Given the description of an element on the screen output the (x, y) to click on. 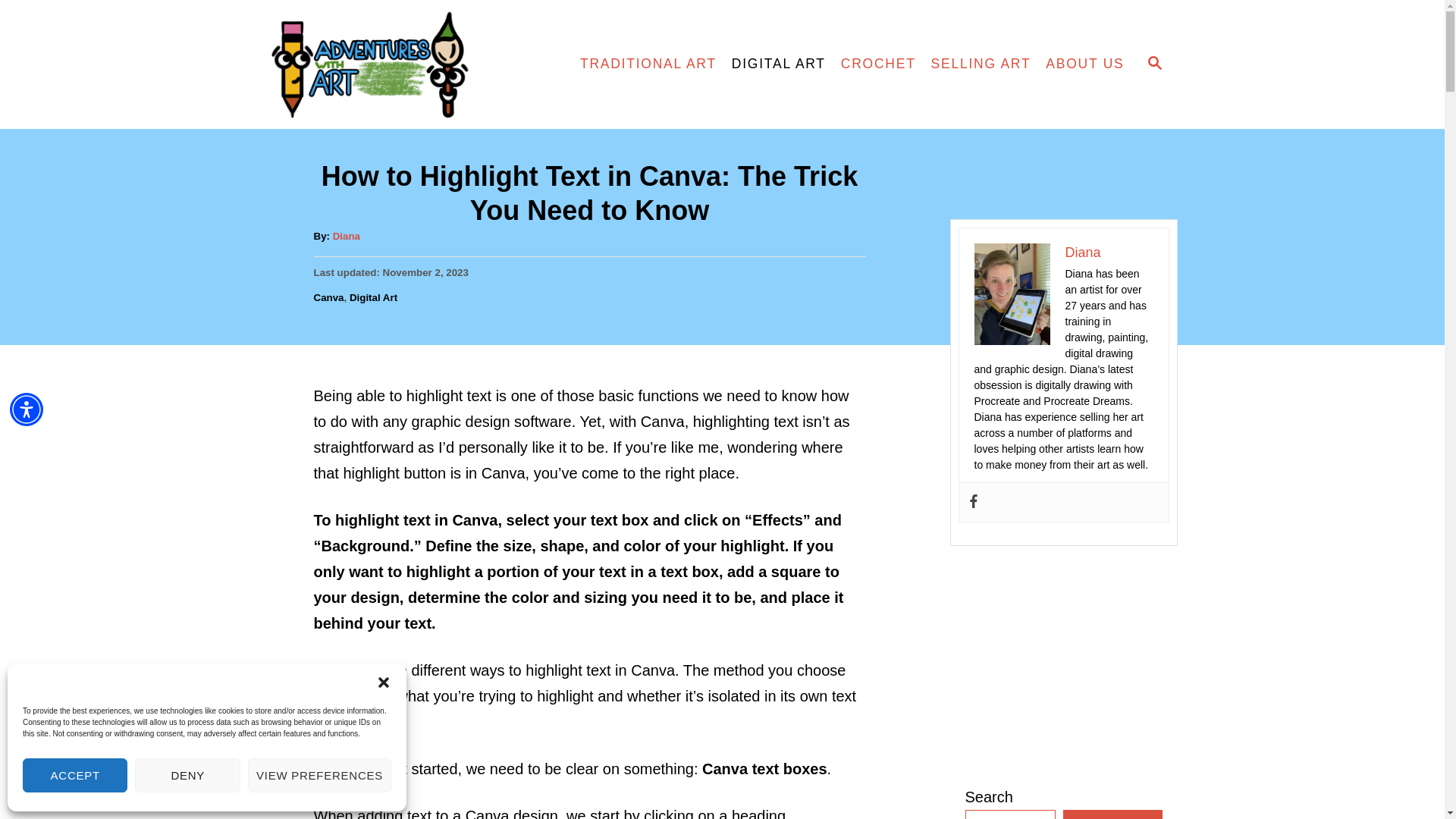
CROCHET (877, 64)
Adventures with Art (399, 64)
ACCEPT (75, 775)
Accessibility Menu (26, 409)
DENY (187, 775)
VIEW PREFERENCES (319, 775)
SEARCH (1153, 63)
DIGITAL ART (777, 64)
TRADITIONAL ART (647, 64)
